Given the description of an element on the screen output the (x, y) to click on. 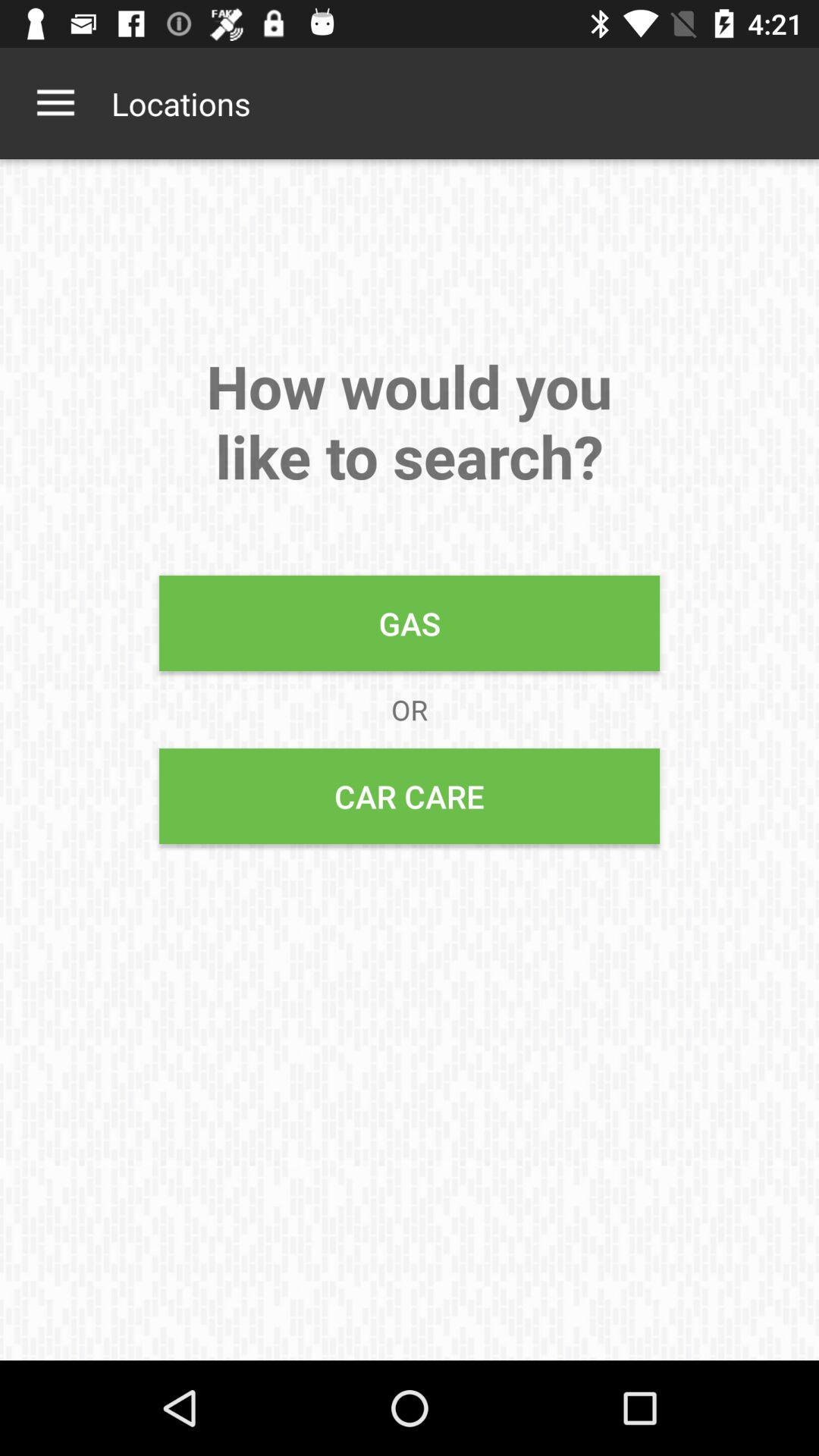
press the gas (409, 623)
